Given the description of an element on the screen output the (x, y) to click on. 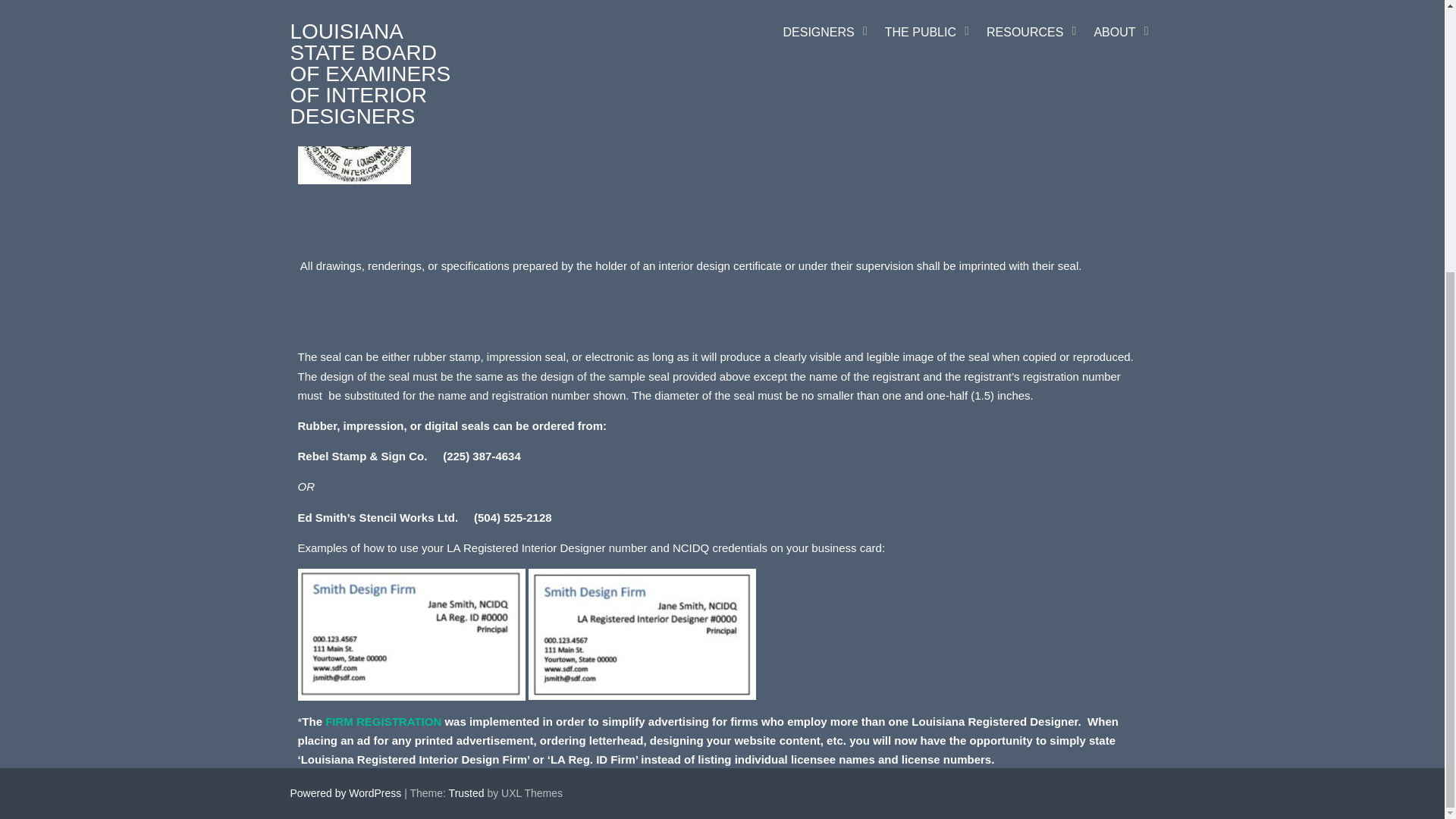
FIRM REGISTRATION (382, 721)
